Given the description of an element on the screen output the (x, y) to click on. 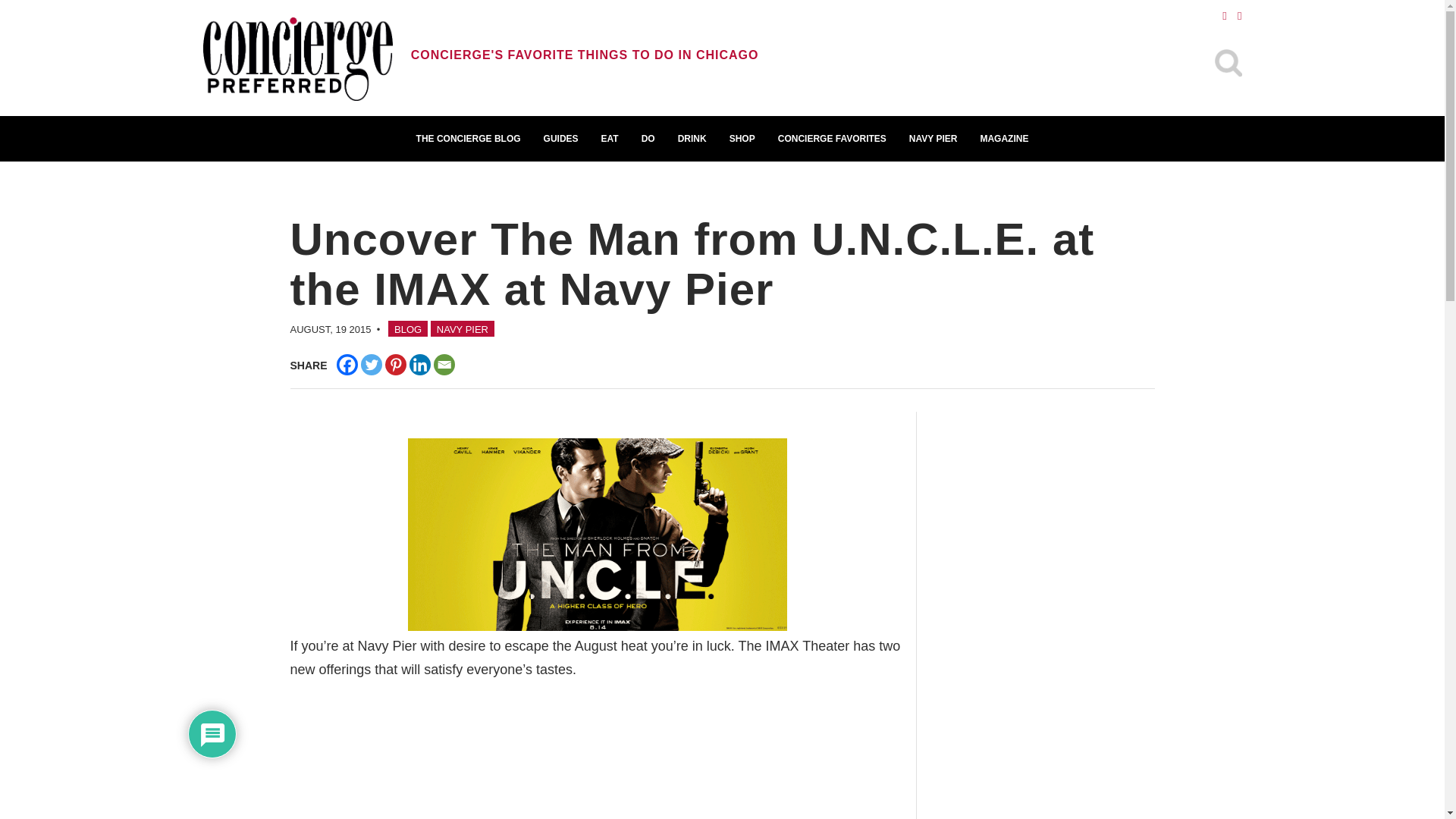
SHOP (742, 137)
Facebook (347, 364)
GUIDES (560, 137)
CONCIERGE FAVORITES (832, 137)
NAVY PIER (933, 137)
DRINK (691, 137)
NAVY PIER (462, 327)
THE CONCIERGE BLOG (468, 137)
Concierge Preferred (298, 60)
BLOG (408, 327)
MAGAZINE (1003, 137)
Twitter (371, 364)
